Given the description of an element on the screen output the (x, y) to click on. 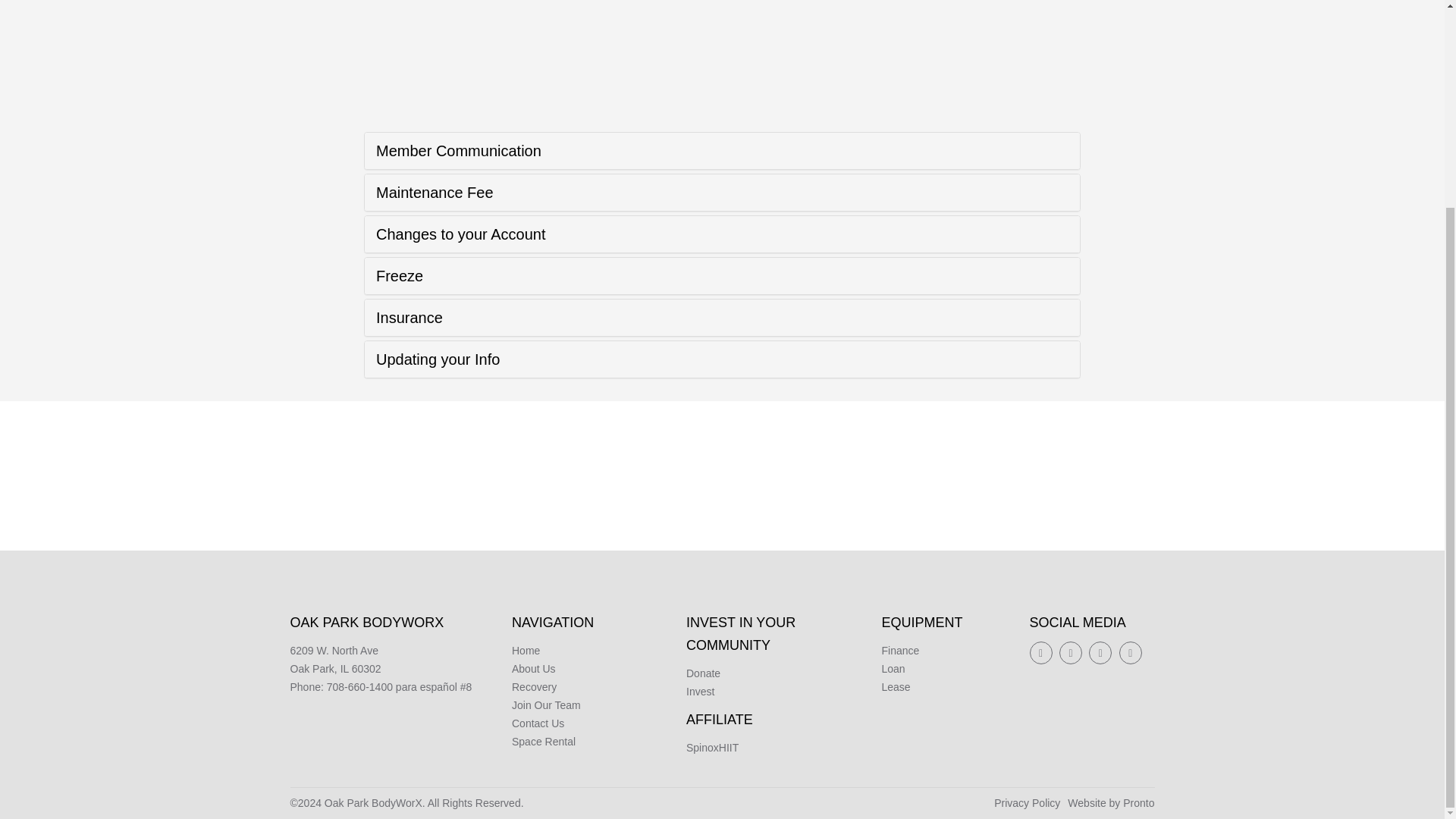
About Us (534, 668)
Changes to your Account (459, 234)
Updating your Info (437, 359)
Maintenance Fee (434, 192)
Join Our Team (546, 705)
Space Rental (543, 741)
Contact Us (538, 723)
Member Communication (458, 150)
Home (526, 650)
Freeze (399, 275)
